Given the description of an element on the screen output the (x, y) to click on. 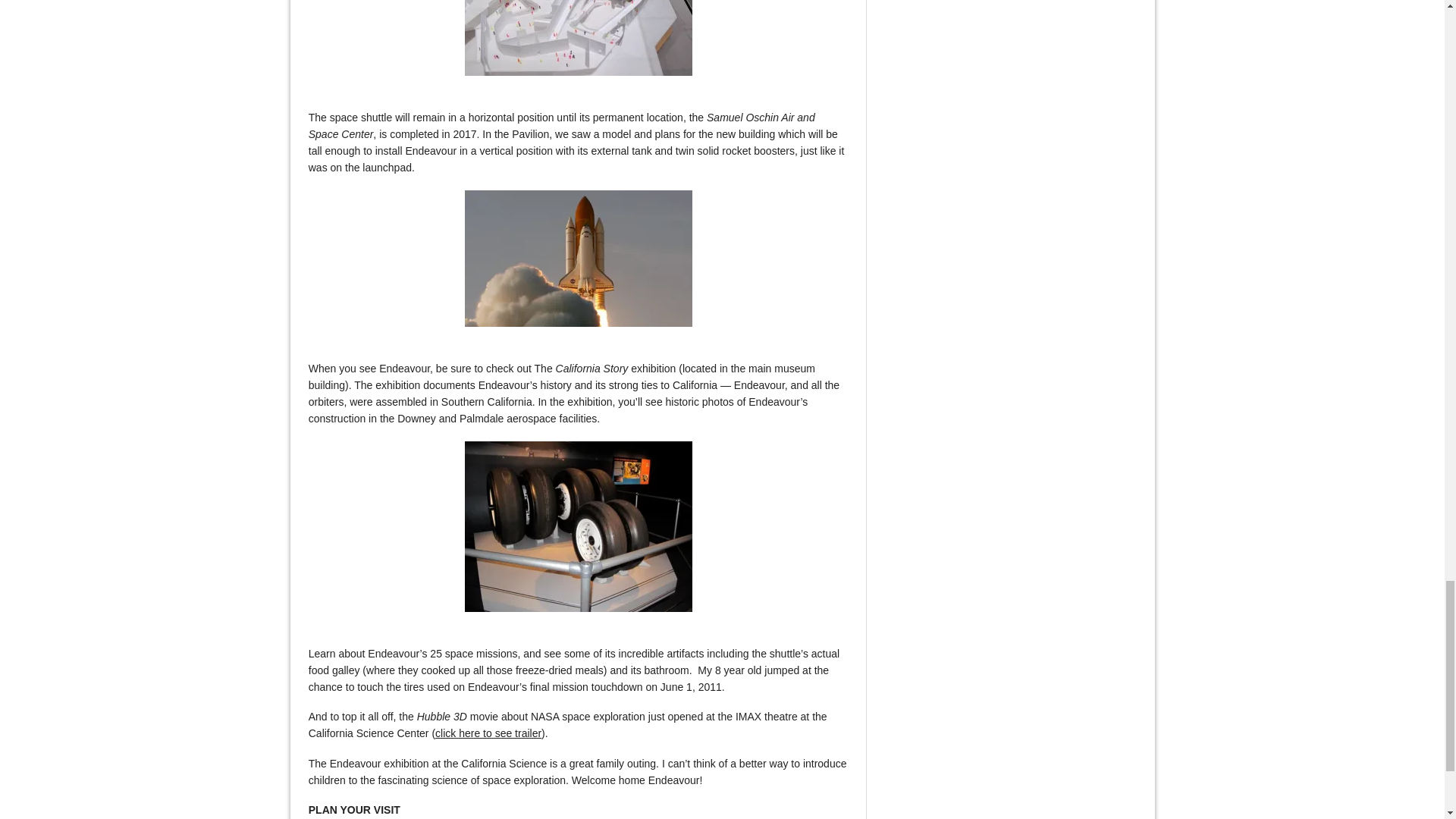
Endeavour Tires, photos by MuseumStories.com (577, 526)
click here to see trailer (488, 733)
Space shuttle Endeavour (577, 258)
Model of Samuel Oschin Air and Space Center (577, 38)
